Given the description of an element on the screen output the (x, y) to click on. 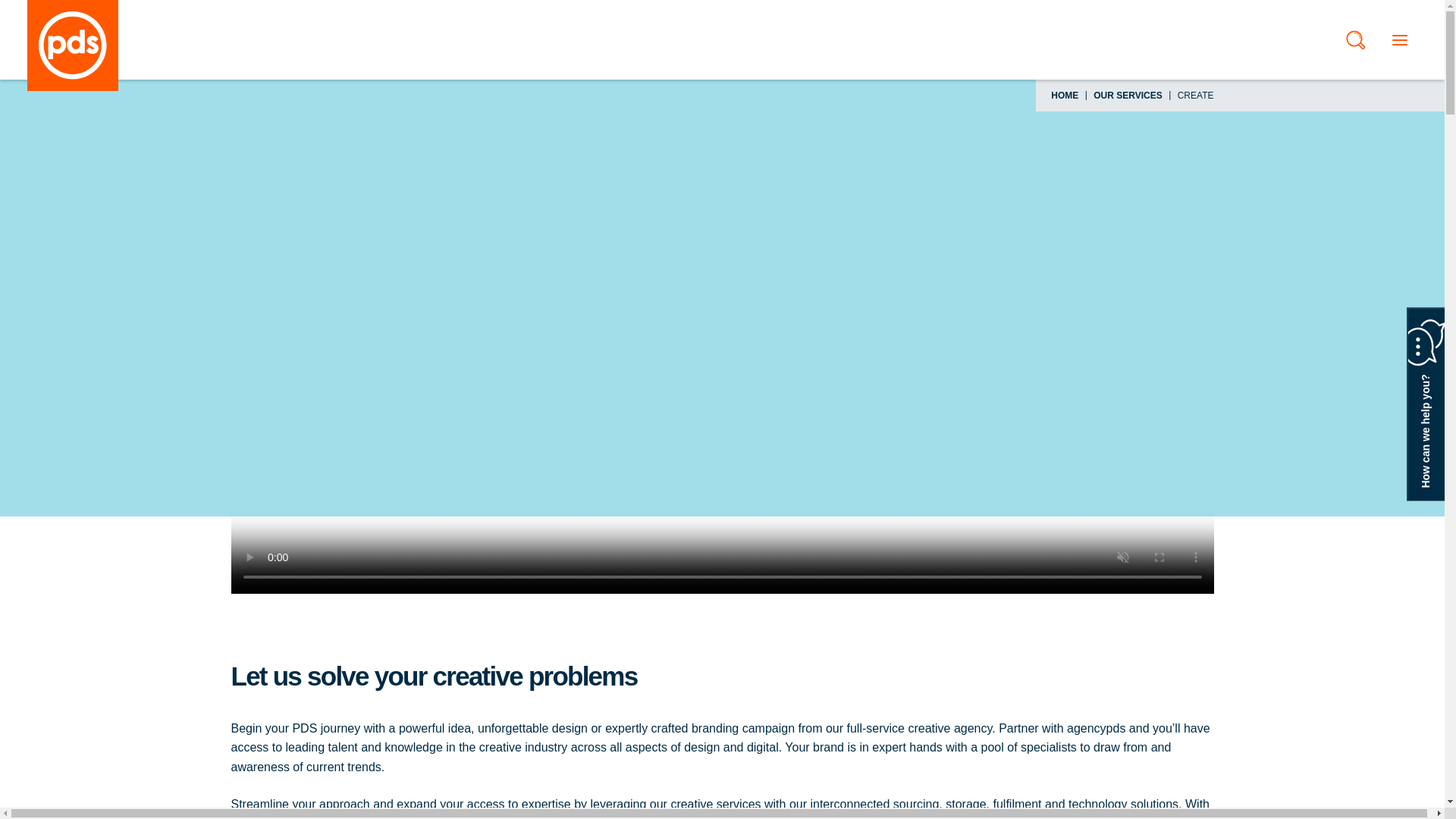
HOME (1064, 95)
agencypds (1096, 727)
Home (72, 45)
Toggle search (1355, 39)
OUR SERVICES (1127, 95)
CREATE (1195, 95)
Toggle navigation (1399, 39)
